Given the description of an element on the screen output the (x, y) to click on. 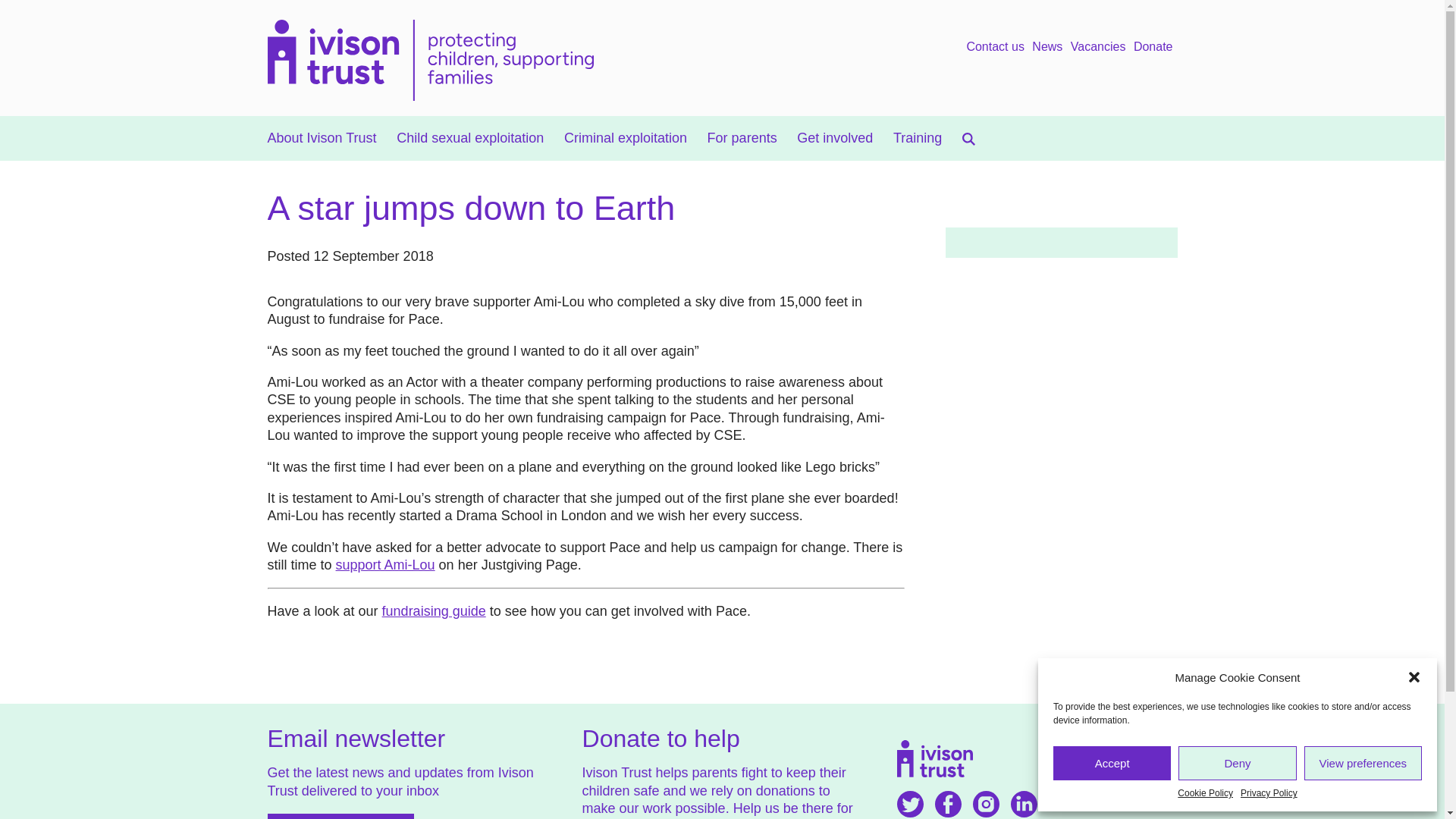
support Ami-Lou (385, 564)
Privacy Policy (1268, 793)
Child sexual exploitation (469, 138)
Accept (1111, 763)
Vacancies (1097, 47)
fundraising guide (433, 611)
Contact us (994, 47)
Deny (1236, 763)
Donate (1153, 47)
Criminal exploitation (625, 138)
